Given the description of an element on the screen output the (x, y) to click on. 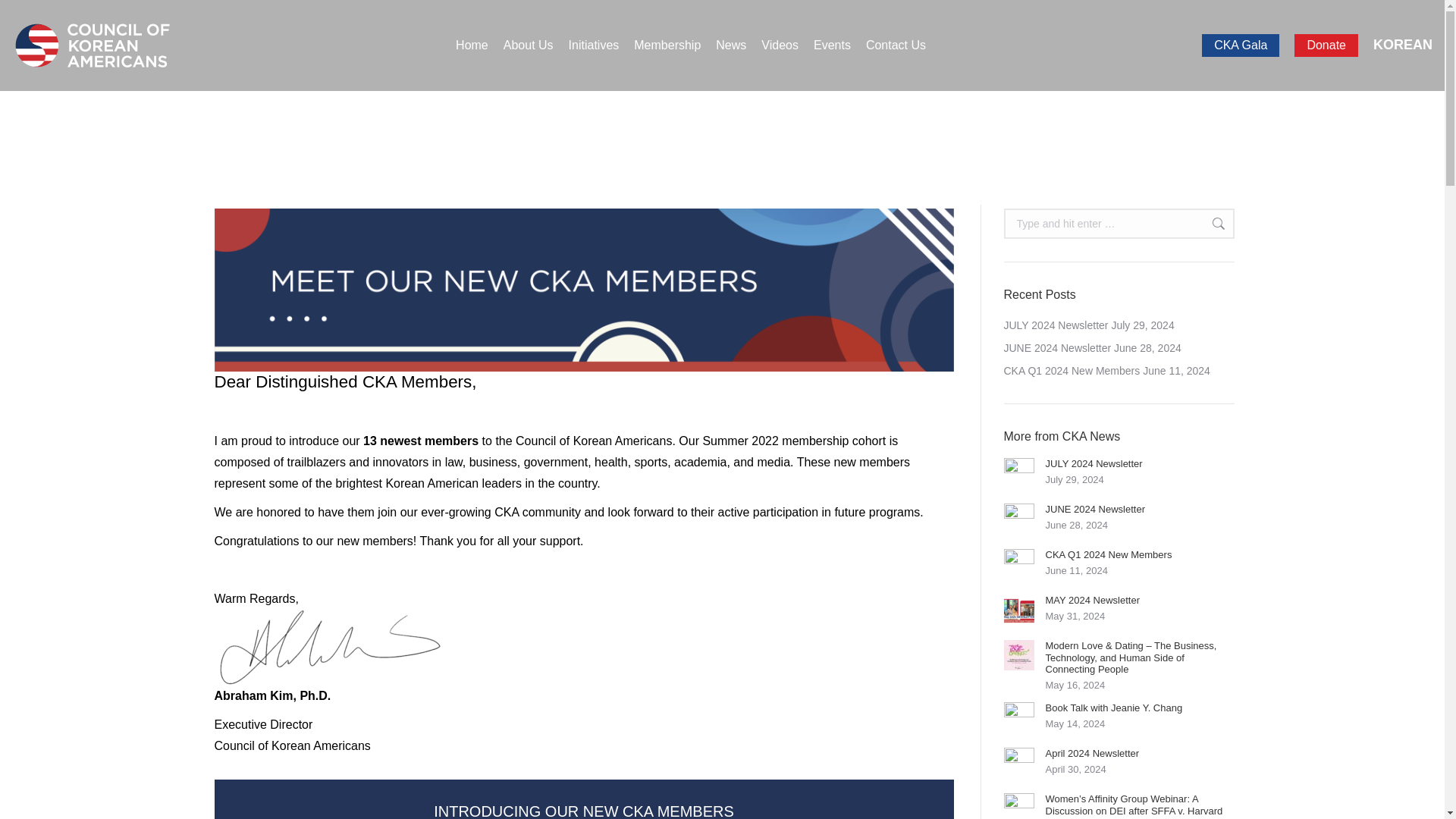
Donate (1326, 45)
Go! (1193, 223)
Abe's Signature with Background (327, 647)
KOREAN (1402, 44)
Go! (1193, 223)
CKA Gala (1240, 45)
